Given the description of an element on the screen output the (x, y) to click on. 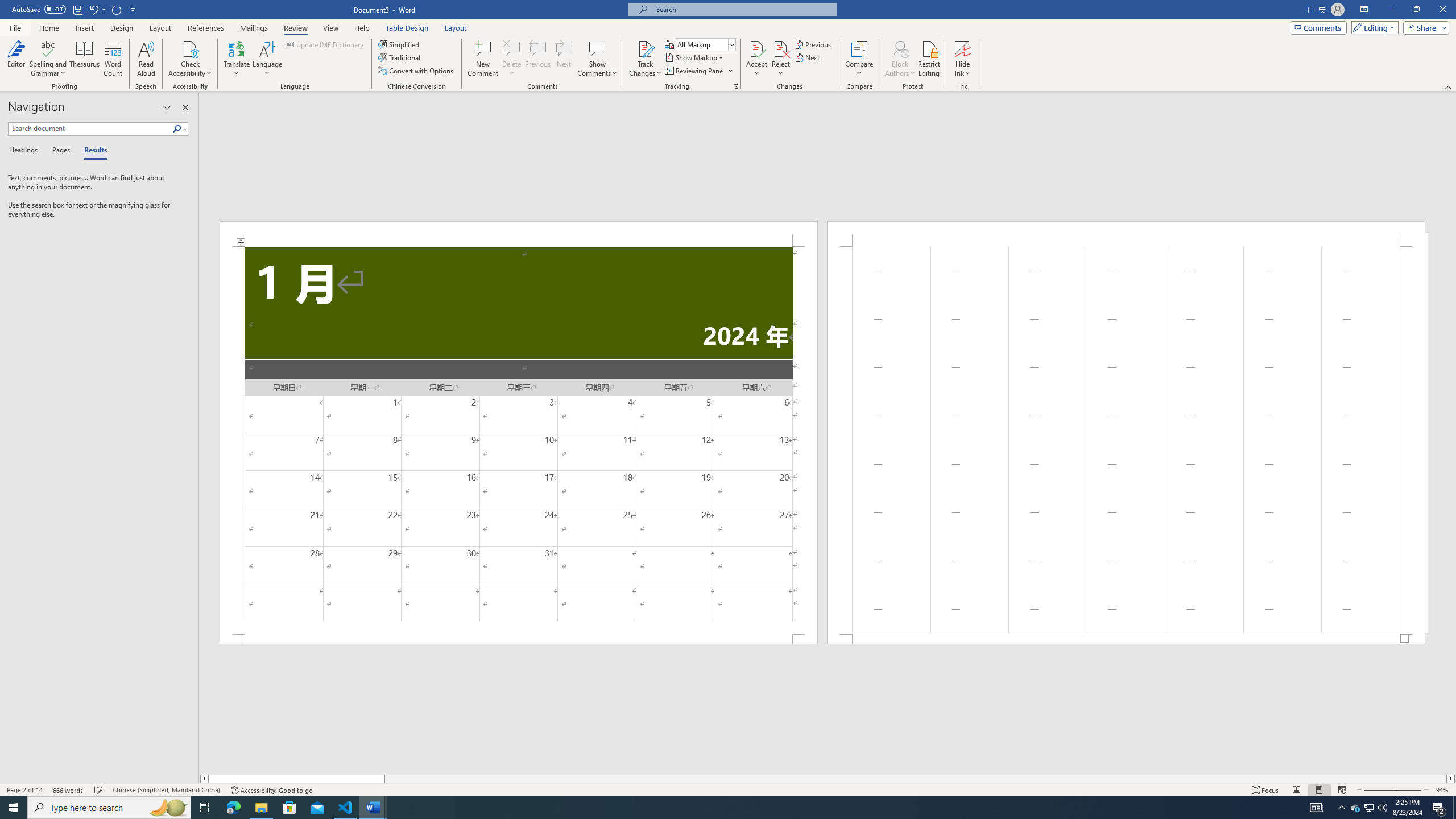
Block Authors (900, 48)
Page Number Page 2 of 14 (24, 790)
Column right (1450, 778)
Accept (756, 58)
Language (267, 58)
Reviewing Pane (698, 69)
Check Accessibility (189, 58)
Show Comments (597, 48)
Spelling and Grammar (48, 58)
